Given the description of an element on the screen output the (x, y) to click on. 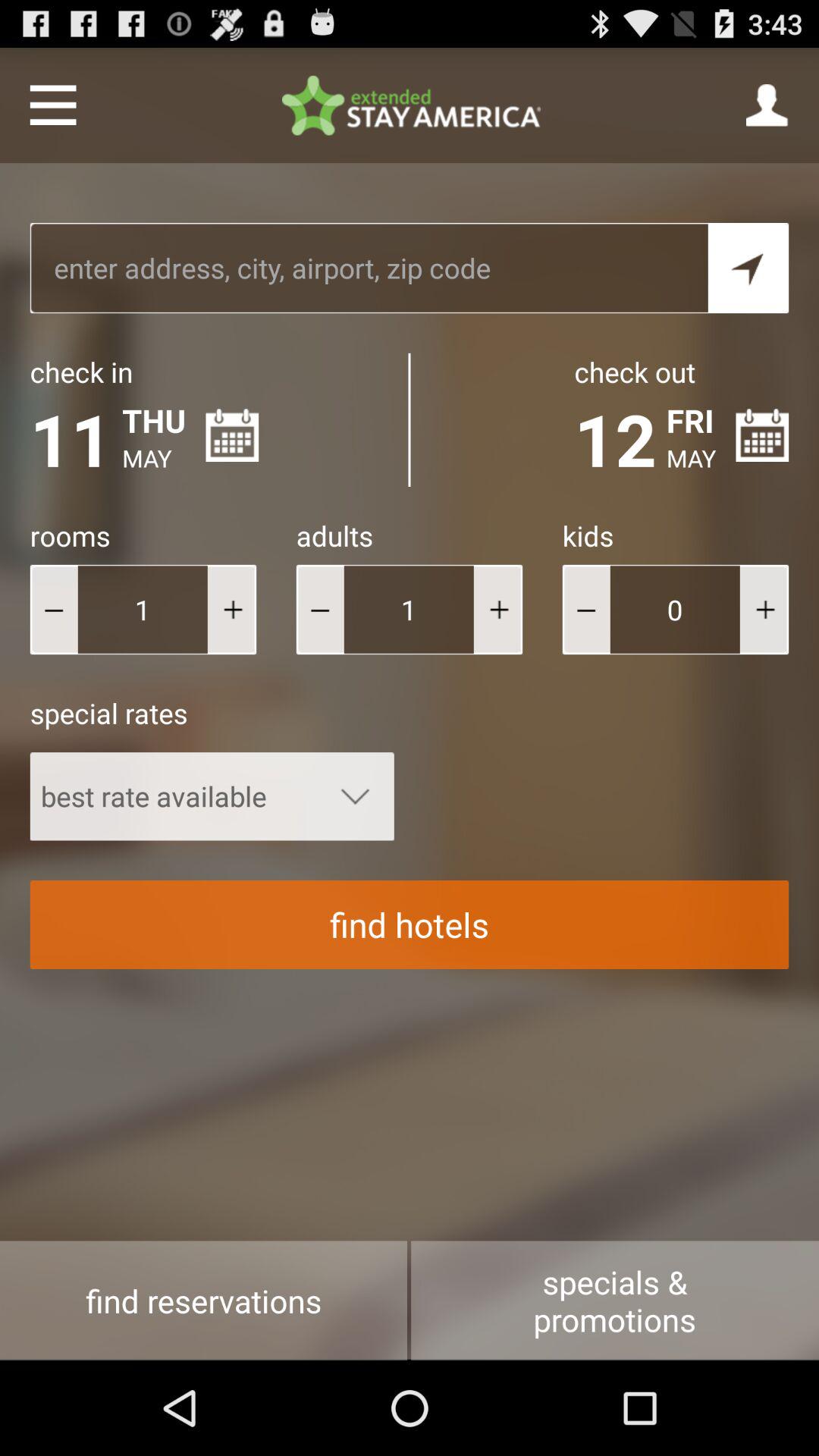
profile picture (767, 105)
